Given the description of an element on the screen output the (x, y) to click on. 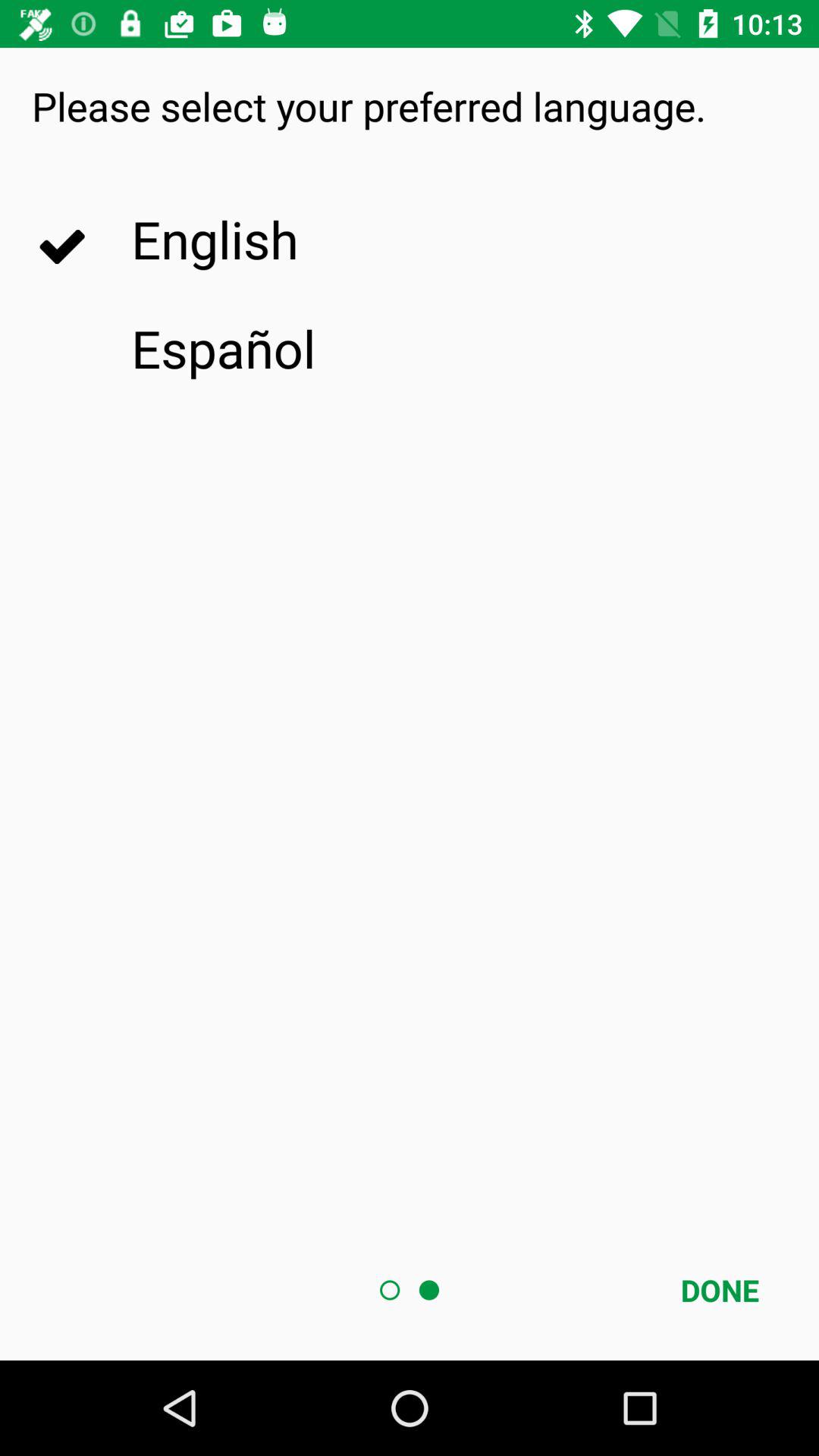
flip to done icon (720, 1290)
